Given the description of an element on the screen output the (x, y) to click on. 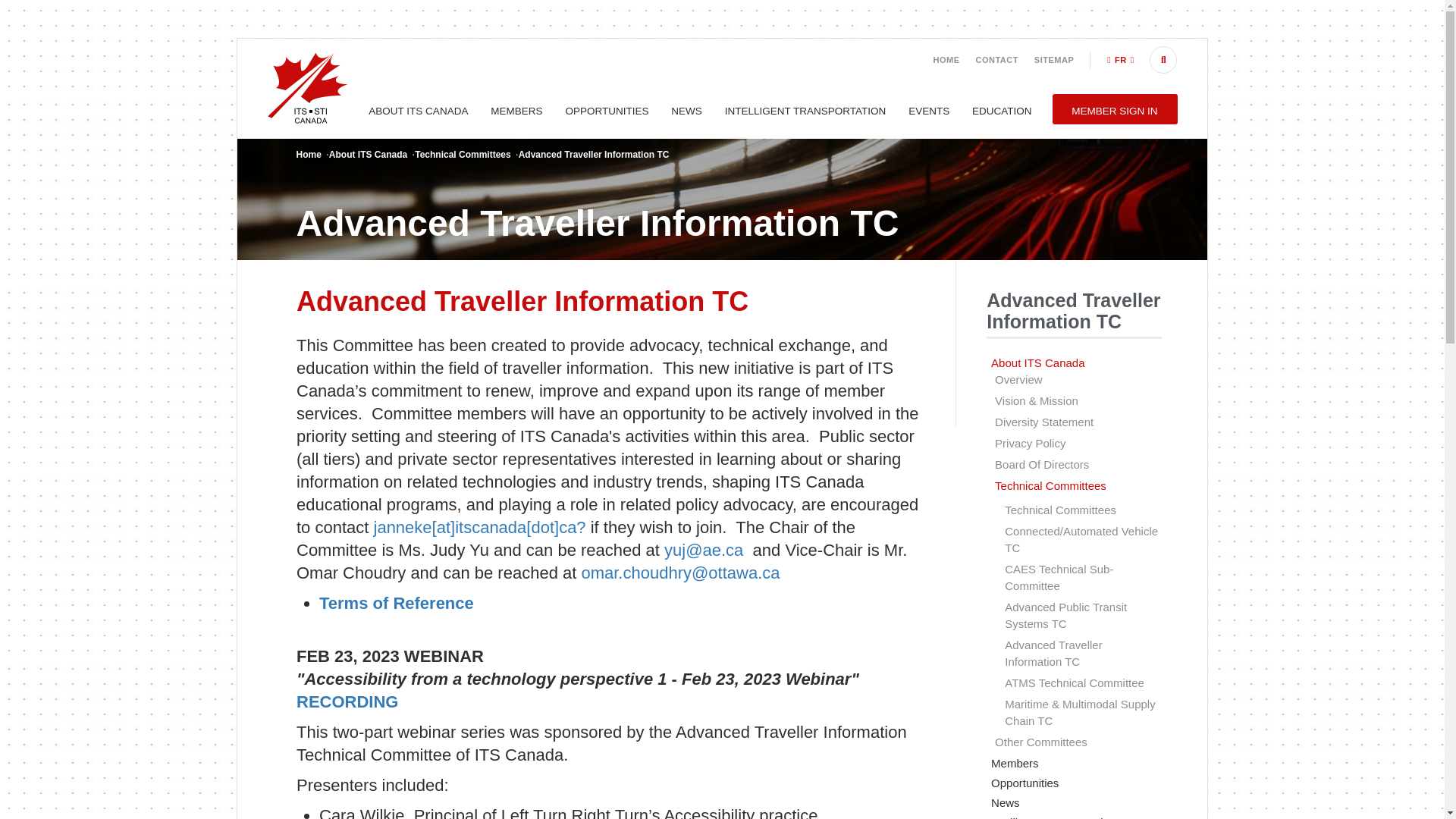
SITEMAP (1053, 59)
INTELLIGENT TRANSPORTATION (805, 110)
CONTACT (996, 59)
OPPORTUNITIES (606, 110)
HOME (946, 59)
FR (1120, 59)
NEWS (686, 110)
ABOUT ITS CANADA (418, 110)
MEMBERS (515, 110)
